Given the description of an element on the screen output the (x, y) to click on. 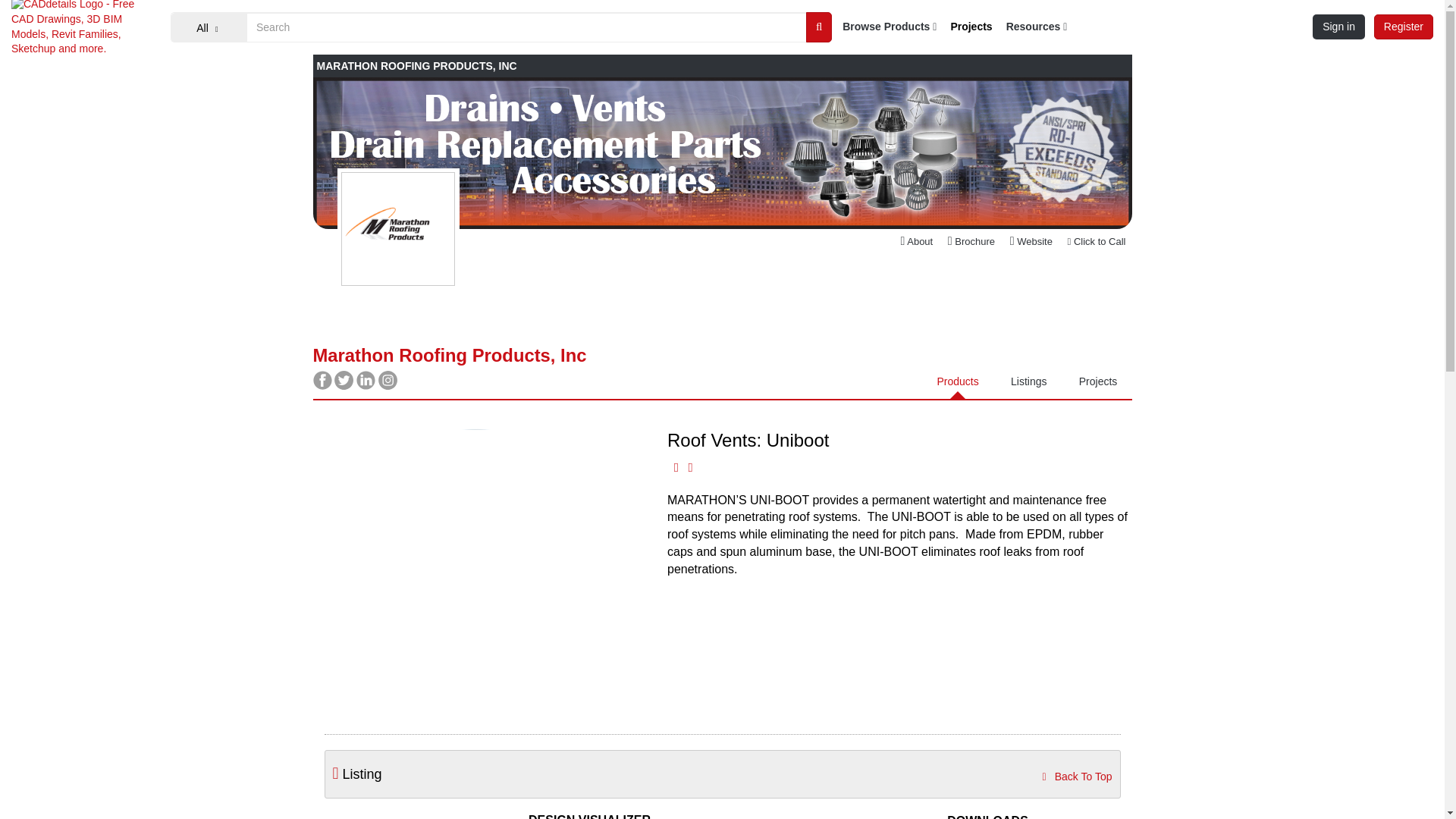
Brochure (970, 242)
Facebook (323, 386)
 Click to Call (1096, 242)
Register (1403, 26)
Website (1031, 242)
About (911, 242)
Click to reveal (1096, 242)
Instagram (387, 386)
Marathon Roofing Products, Inc (722, 152)
Share this Product (675, 467)
Projects (970, 27)
Sign in (1339, 26)
Marathon Roofing Products, Inc (449, 354)
LinkedIn (367, 386)
Twitter (345, 386)
